Given the description of an element on the screen output the (x, y) to click on. 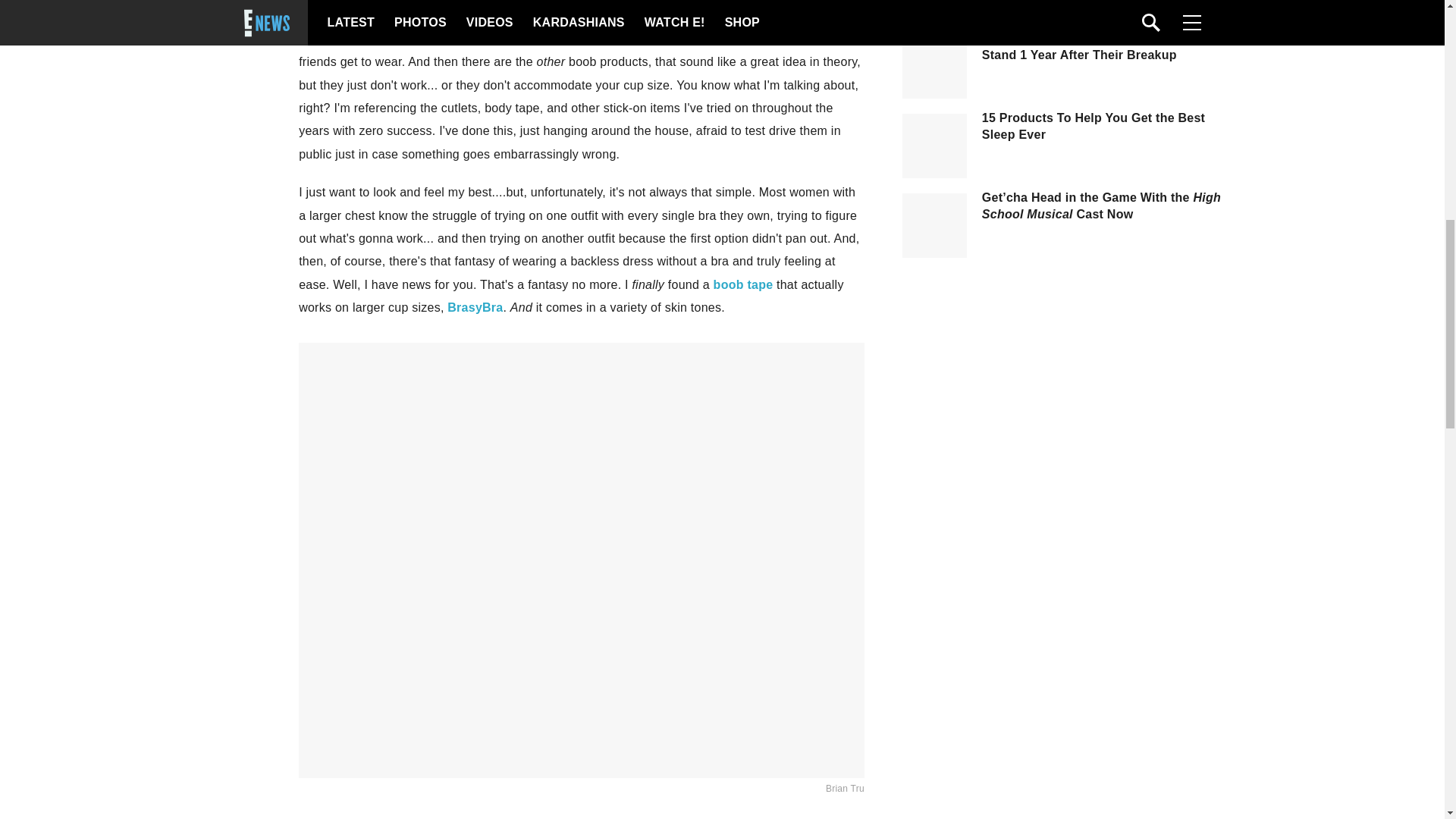
boob tape (743, 284)
BrasyBra (474, 307)
